Given the description of an element on the screen output the (x, y) to click on. 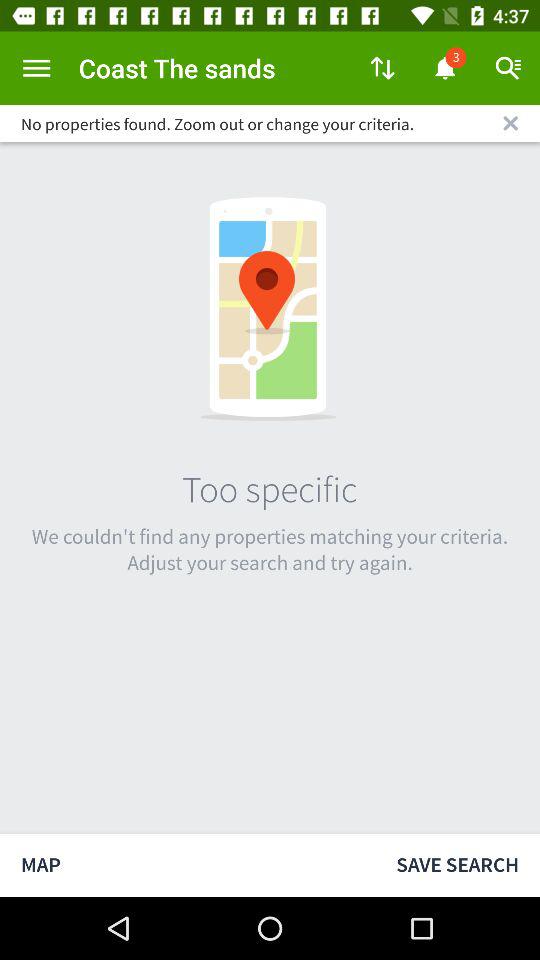
select the item to the right of coast the sands item (381, 67)
